Given the description of an element on the screen output the (x, y) to click on. 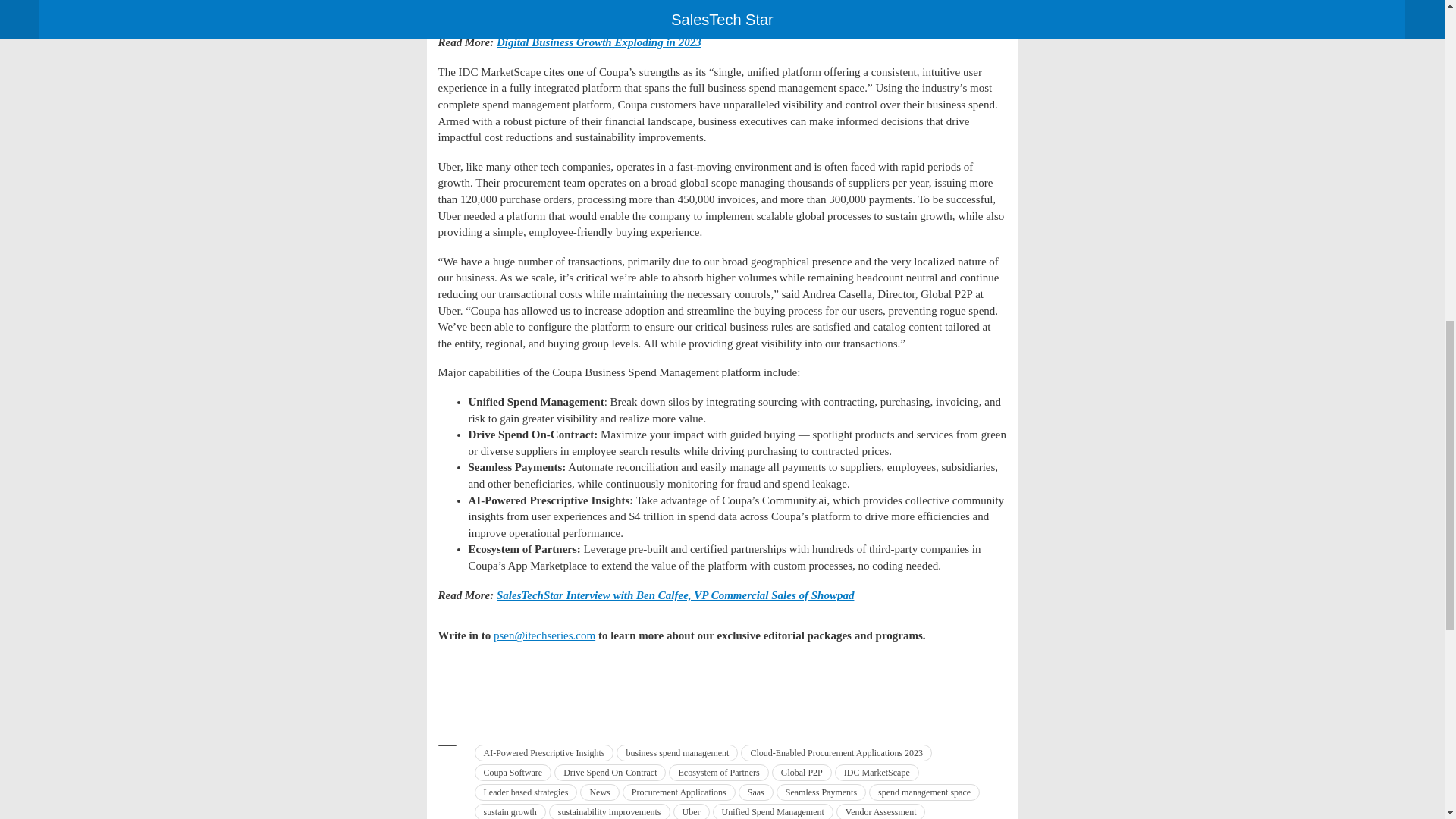
Unified Spend Management (772, 811)
Digital Business Growth Exploding in 2023 (598, 42)
Coupa Software (512, 772)
Ecosystem of Partners (718, 772)
Drive Spend On-Contract (609, 772)
IDC MarketScape (876, 772)
News (598, 791)
Uber (691, 811)
Vendor Assessment (880, 811)
sustainability improvements (608, 811)
